Given the description of an element on the screen output the (x, y) to click on. 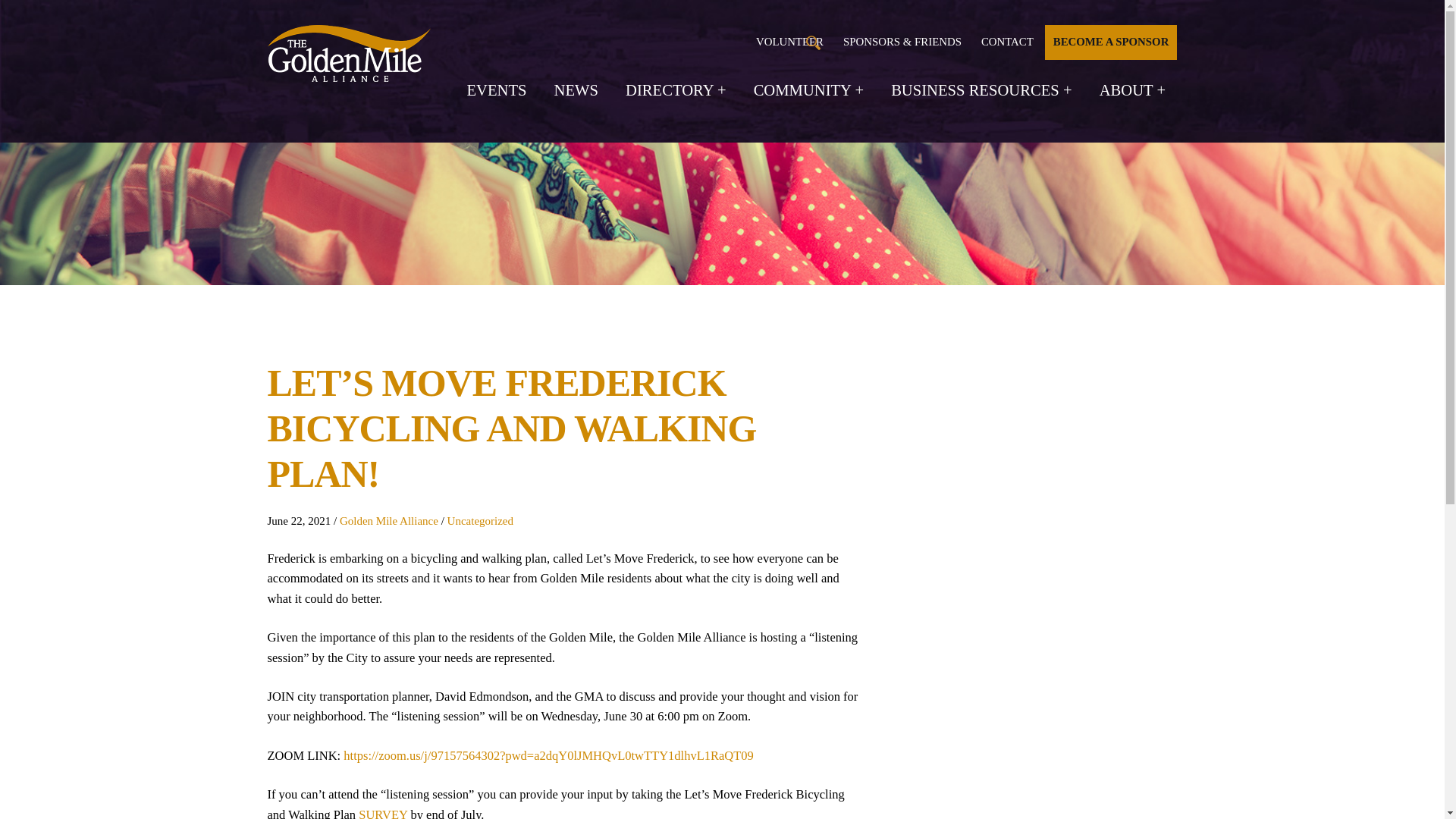
Golden Mile Alliance (388, 521)
ABOUT (1132, 90)
BECOME A SPONSOR (1110, 42)
VOLUNTEER (789, 42)
EVENTS (497, 90)
NEWS (576, 90)
Posts by Golden Mile Alliance (388, 521)
SURVEY (382, 813)
CONTACT (1007, 42)
COMMUNITY (808, 90)
